Given the description of an element on the screen output the (x, y) to click on. 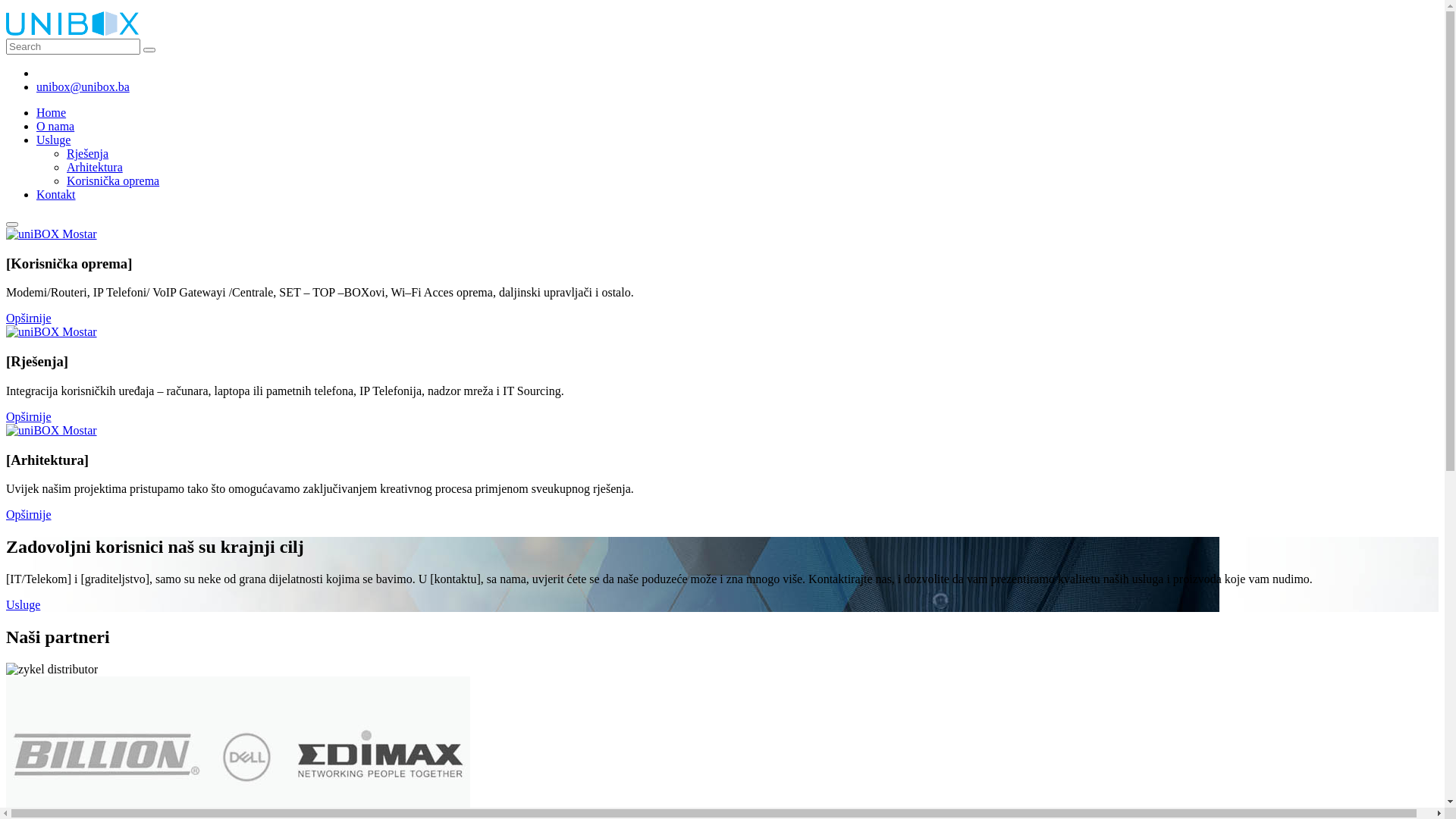
unibox@unibox.ba Element type: text (82, 86)
Usluge Element type: text (53, 139)
Home Element type: text (50, 112)
Usluge Element type: text (23, 604)
Arhitektura Element type: text (94, 166)
Kontakt Element type: text (55, 194)
O nama Element type: text (55, 125)
